Given the description of an element on the screen output the (x, y) to click on. 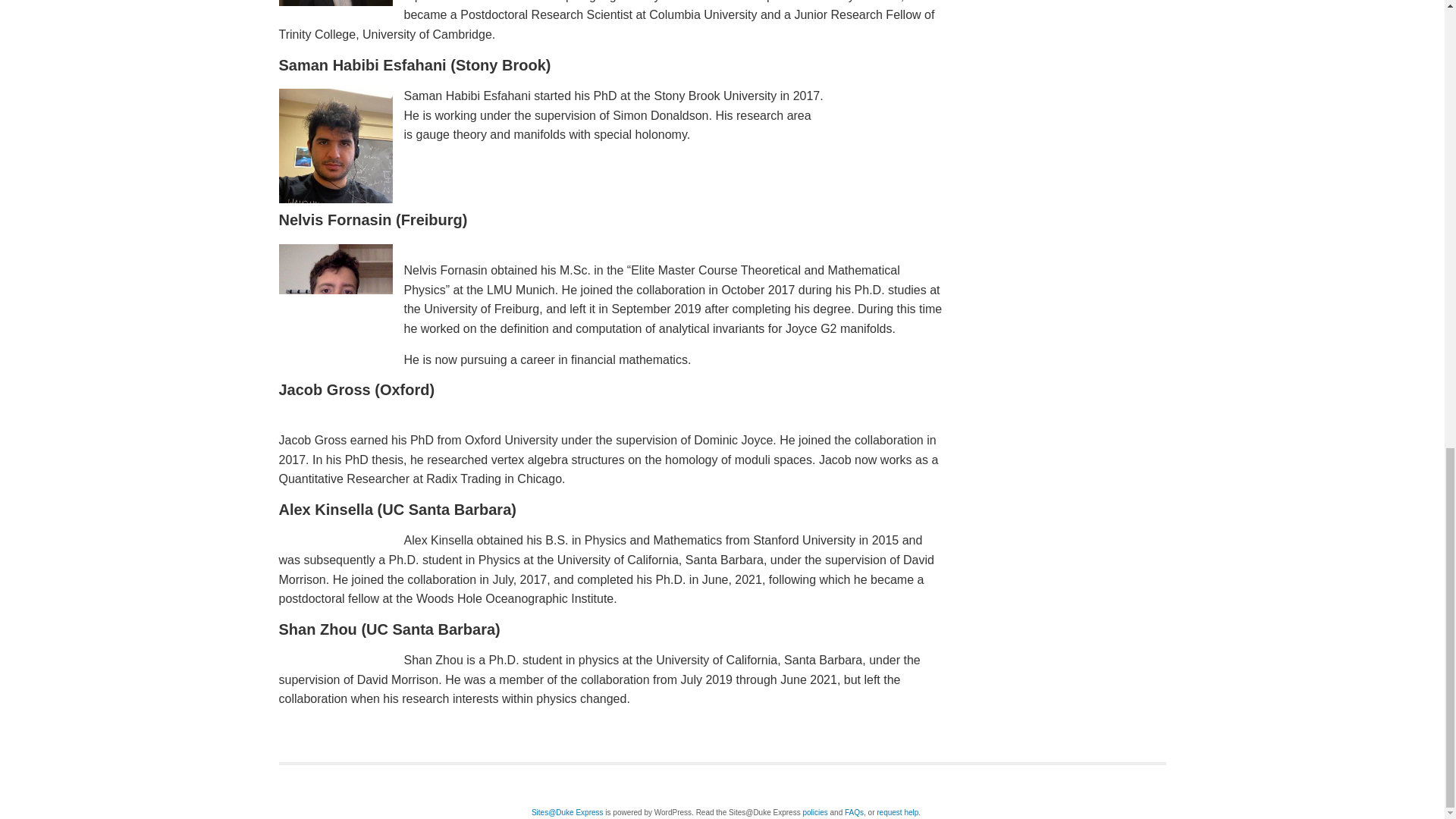
request help (897, 812)
policies (814, 812)
FAQs (853, 812)
